Given the description of an element on the screen output the (x, y) to click on. 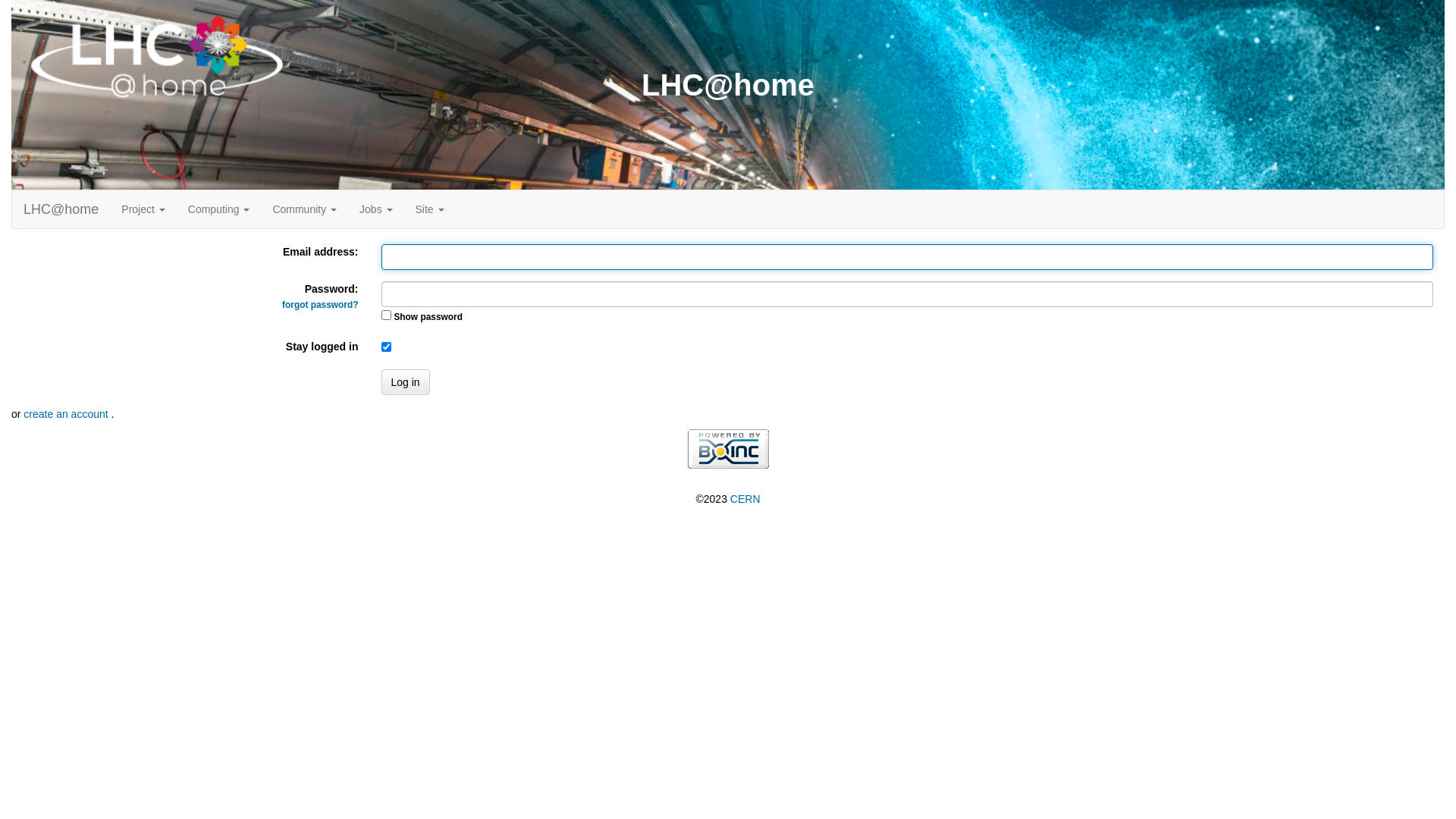
on Element type: text (385, 315)
create an account Element type: text (66, 413)
Project Element type: text (142, 209)
LHC@home Element type: text (60, 209)
Community Element type: text (304, 209)
forgot password? Element type: text (319, 304)
Computing Element type: text (218, 209)
Log in Element type: text (404, 382)
CERN Element type: text (745, 498)
Site Element type: text (429, 209)
Jobs Element type: text (375, 209)
